Given the description of an element on the screen output the (x, y) to click on. 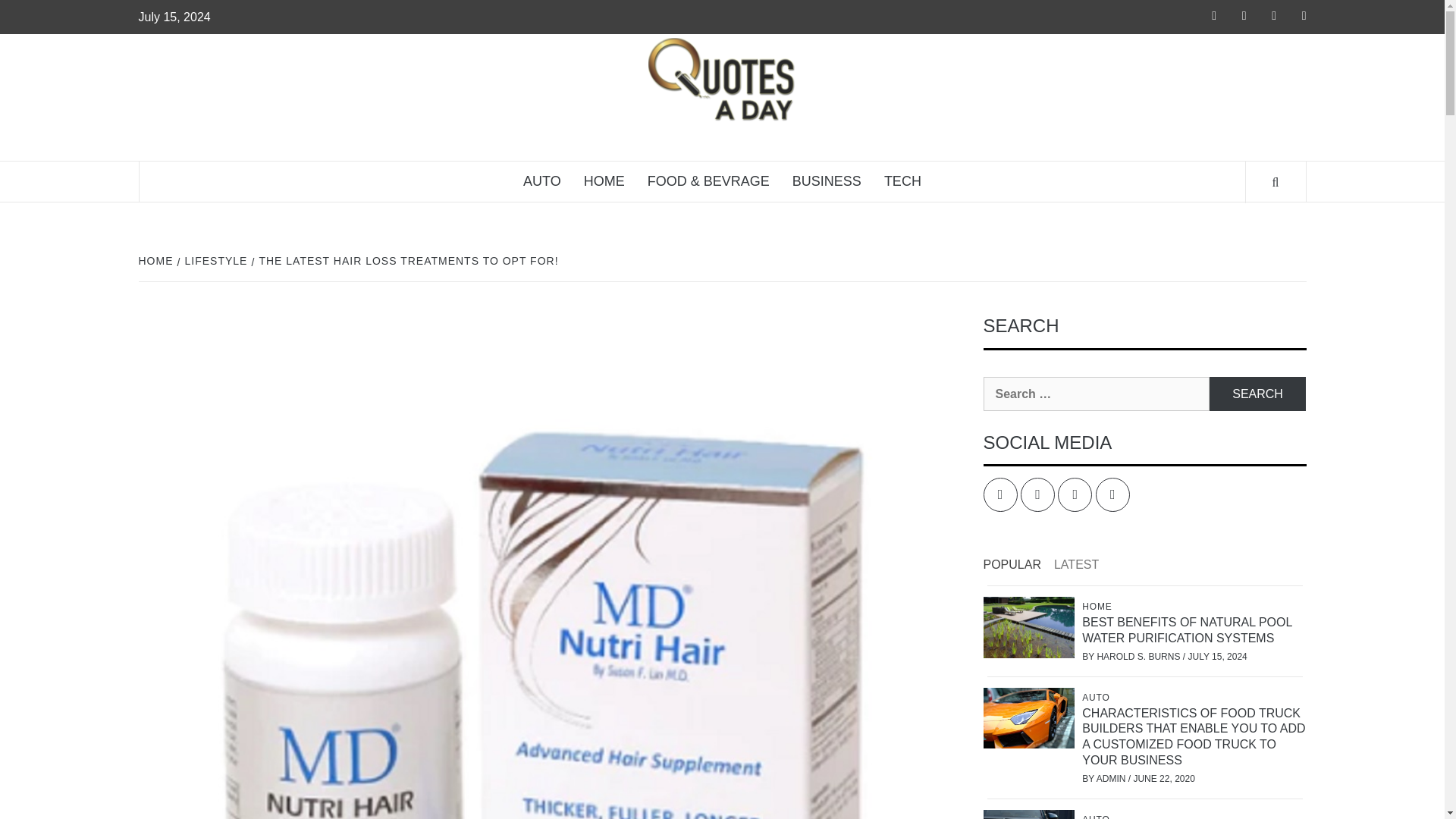
YouTube (1112, 494)
BUSINESS (826, 181)
HOME (604, 181)
ADMIN (1112, 778)
AUTO (542, 181)
AUTO (1097, 696)
HOME (157, 260)
Search (1257, 393)
Search (1257, 393)
Twitter (1037, 494)
LATEST (1081, 565)
HOME (1098, 605)
BEST BENEFITS OF NATURAL POOL WATER PURIFICATION SYSTEMS (1186, 629)
Linked IN (1075, 494)
